Given the description of an element on the screen output the (x, y) to click on. 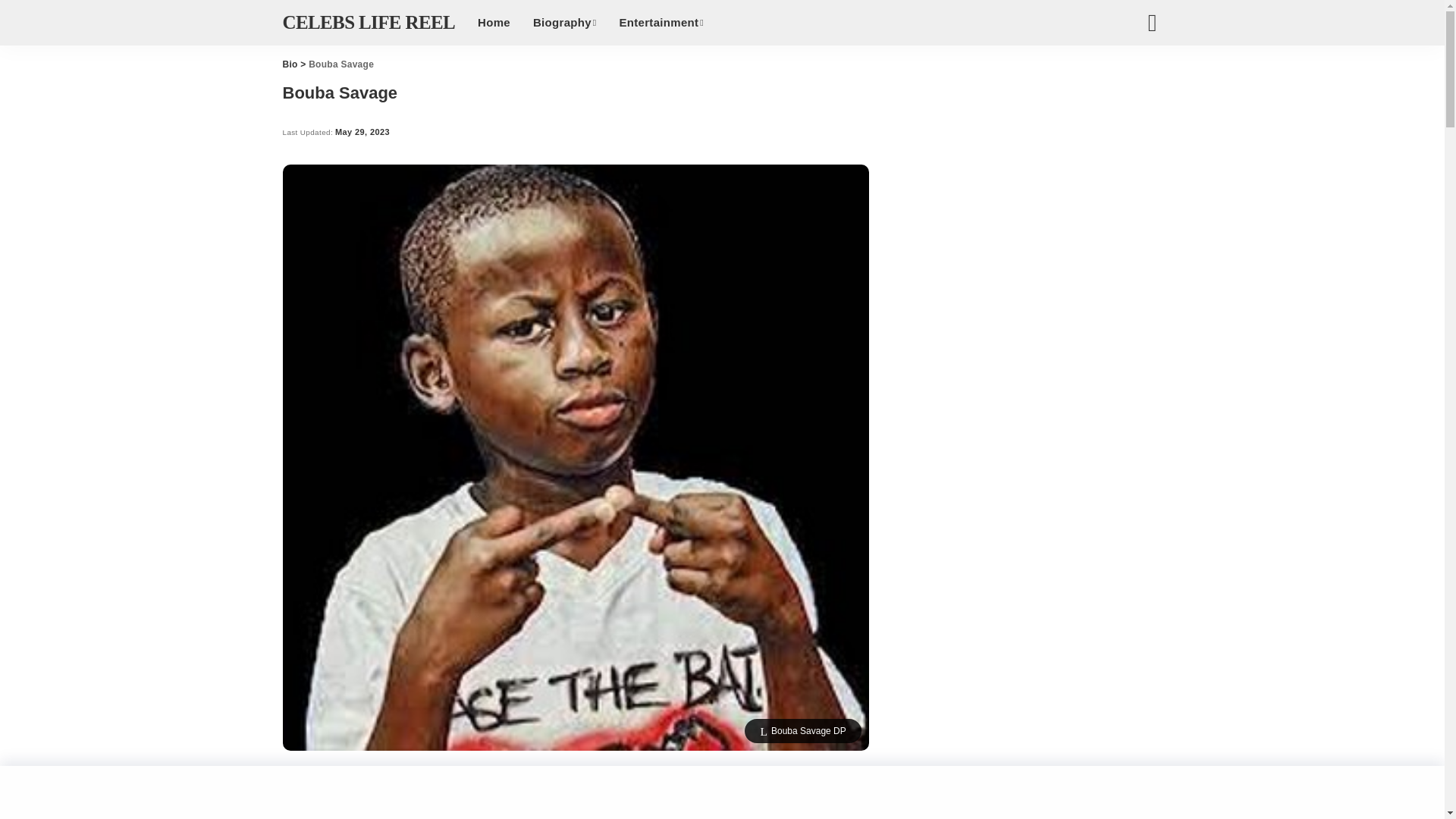
Biography (564, 22)
CELEBS LIFE REEL (368, 22)
CELEBS LIFE REEL (368, 22)
Home (493, 22)
Go to the Bio Category archives. (289, 63)
Entertainment (661, 22)
Advertisement (575, 796)
